Given the description of an element on the screen output the (x, y) to click on. 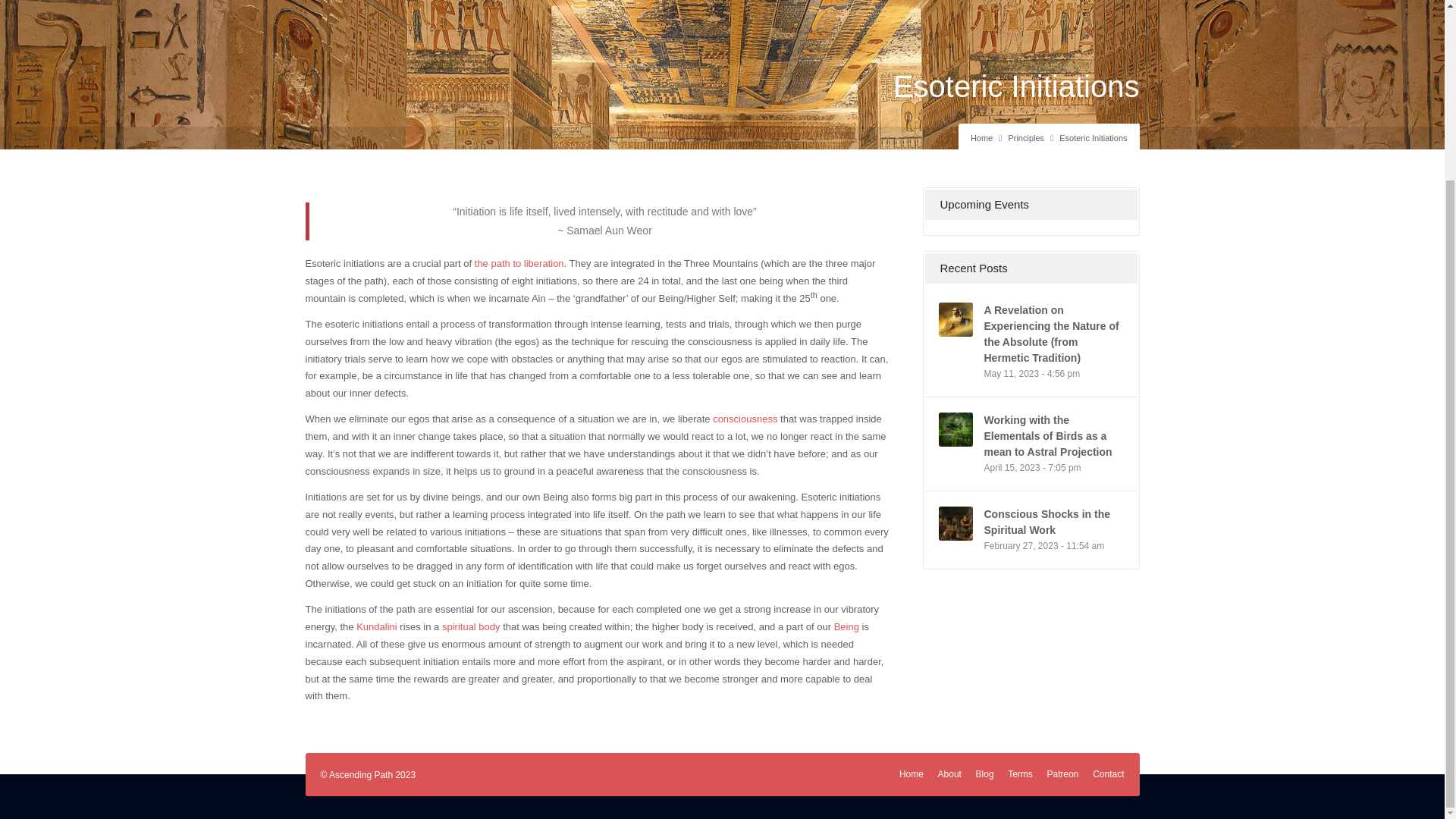
Principles (1025, 137)
Ascending Path (981, 137)
